Given the description of an element on the screen output the (x, y) to click on. 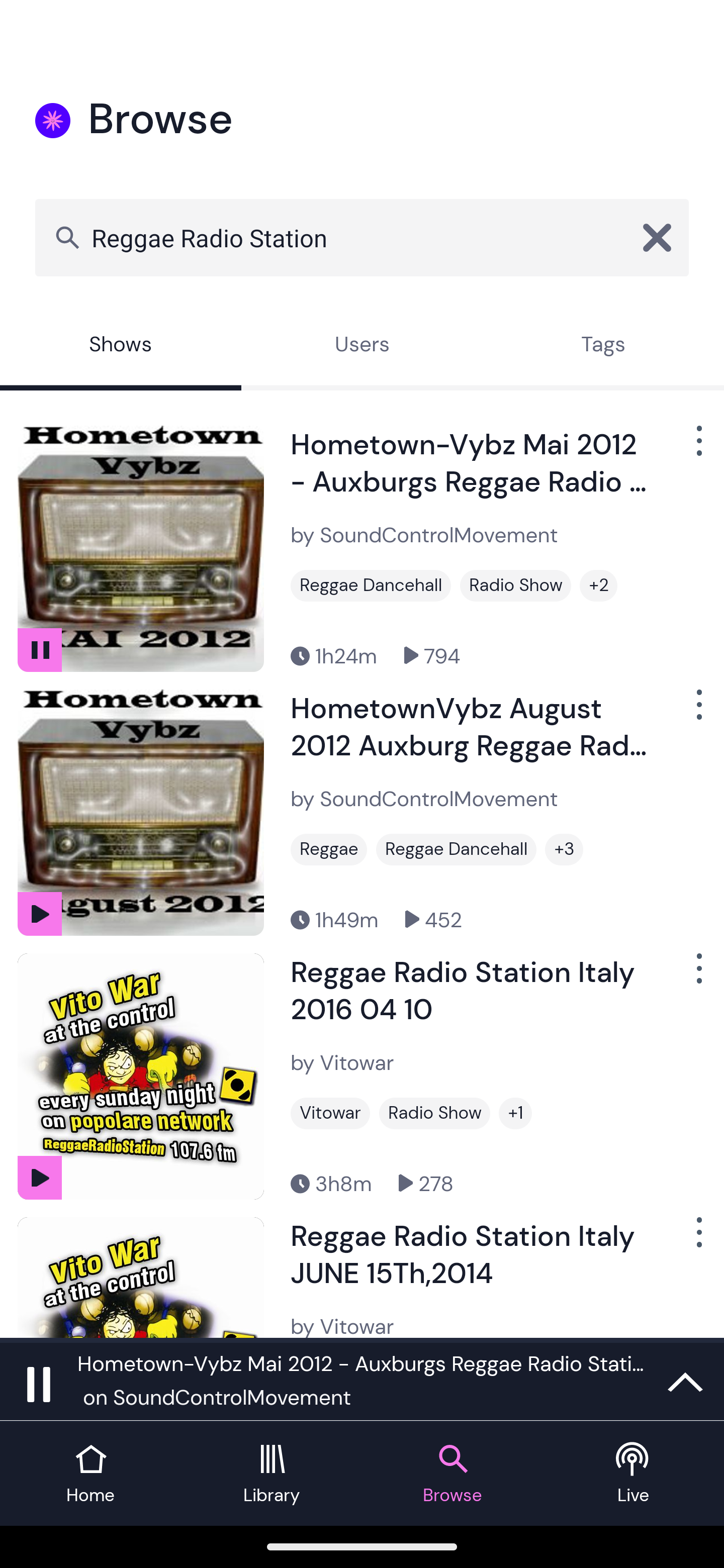
Reggae Radio Station (361, 237)
Shows (120, 346)
Users (361, 346)
Tags (603, 346)
Show Options Menu Button (697, 447)
Reggae Dancehall (370, 585)
Radio Show (515, 585)
Show Options Menu Button (697, 712)
Reggae (328, 849)
Reggae Dancehall (455, 849)
Show Options Menu Button (697, 975)
Vitowar (329, 1112)
Radio Show (434, 1112)
Show Options Menu Button (697, 1239)
Home tab Home (90, 1473)
Library tab Library (271, 1473)
Browse tab Browse (452, 1473)
Live tab Live (633, 1473)
